Given the description of an element on the screen output the (x, y) to click on. 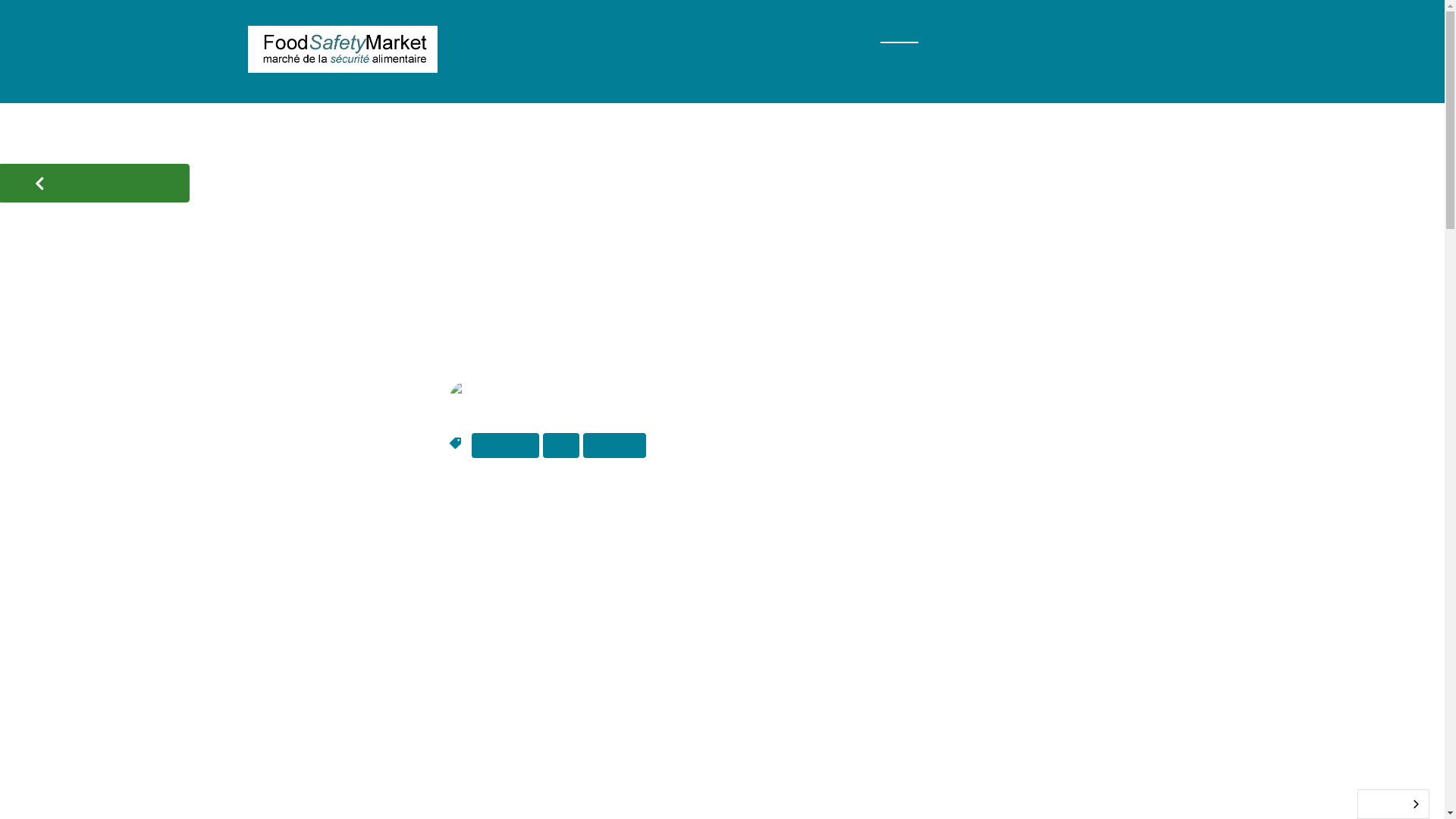
Food Safety Market logo (342, 48)
HOME (483, 33)
ABOUT US (498, 67)
CONTACT US (608, 67)
food safety (504, 445)
BLOG (899, 33)
STORE (644, 33)
restaurant (614, 445)
TRAINING SOLUTIONS (773, 33)
FOOD SAFETY REGULATIONS (1048, 33)
